Given the description of an element on the screen output the (x, y) to click on. 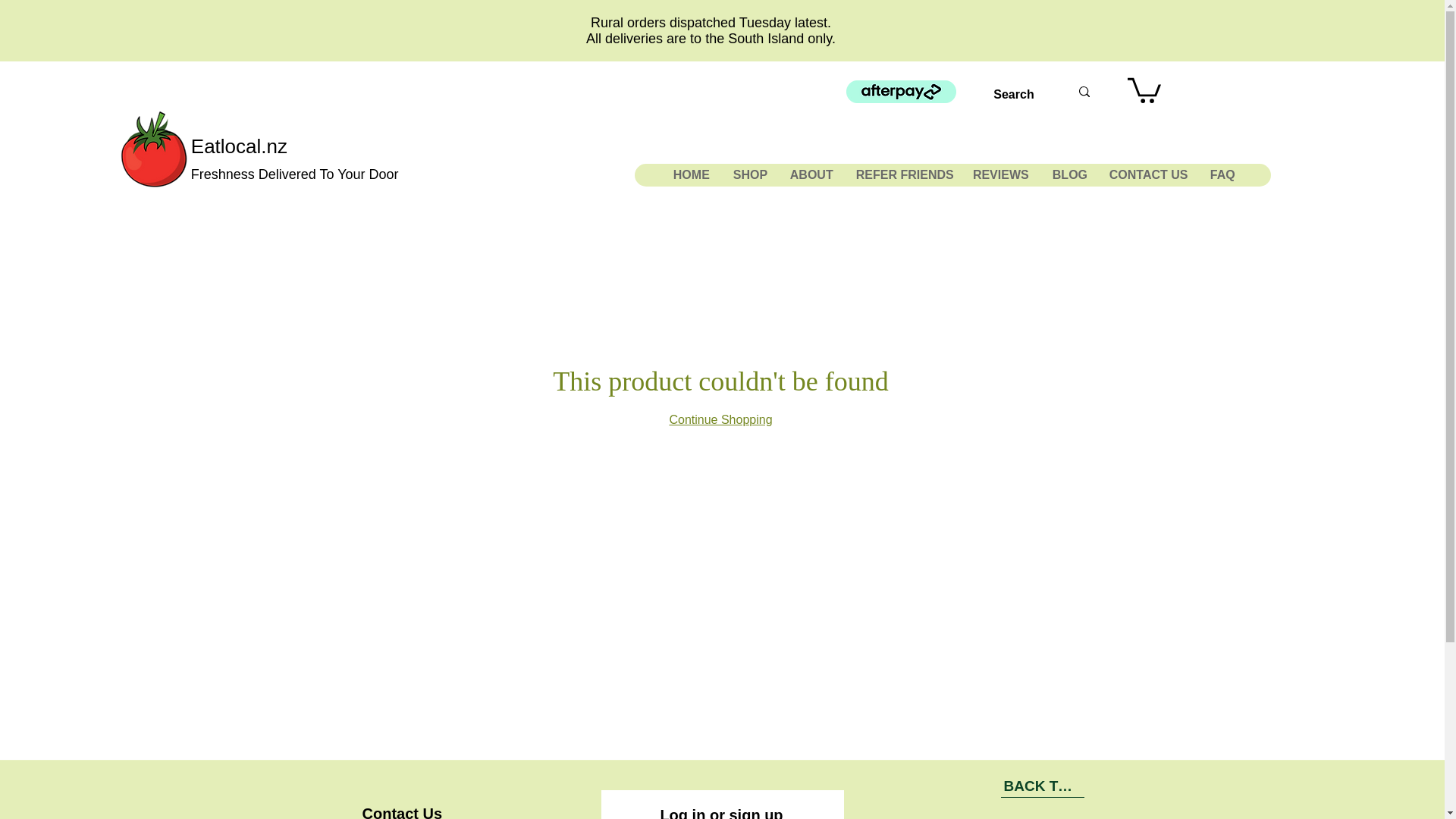
BLOG (1069, 174)
REFER FRIENDS (902, 174)
CONTACT US (1147, 174)
BACK TO TOP (1042, 785)
Continue Shopping (719, 419)
REVIEWS (1000, 174)
FAQ (1221, 174)
ABOUT (810, 174)
HOME (690, 174)
